Given the description of an element on the screen output the (x, y) to click on. 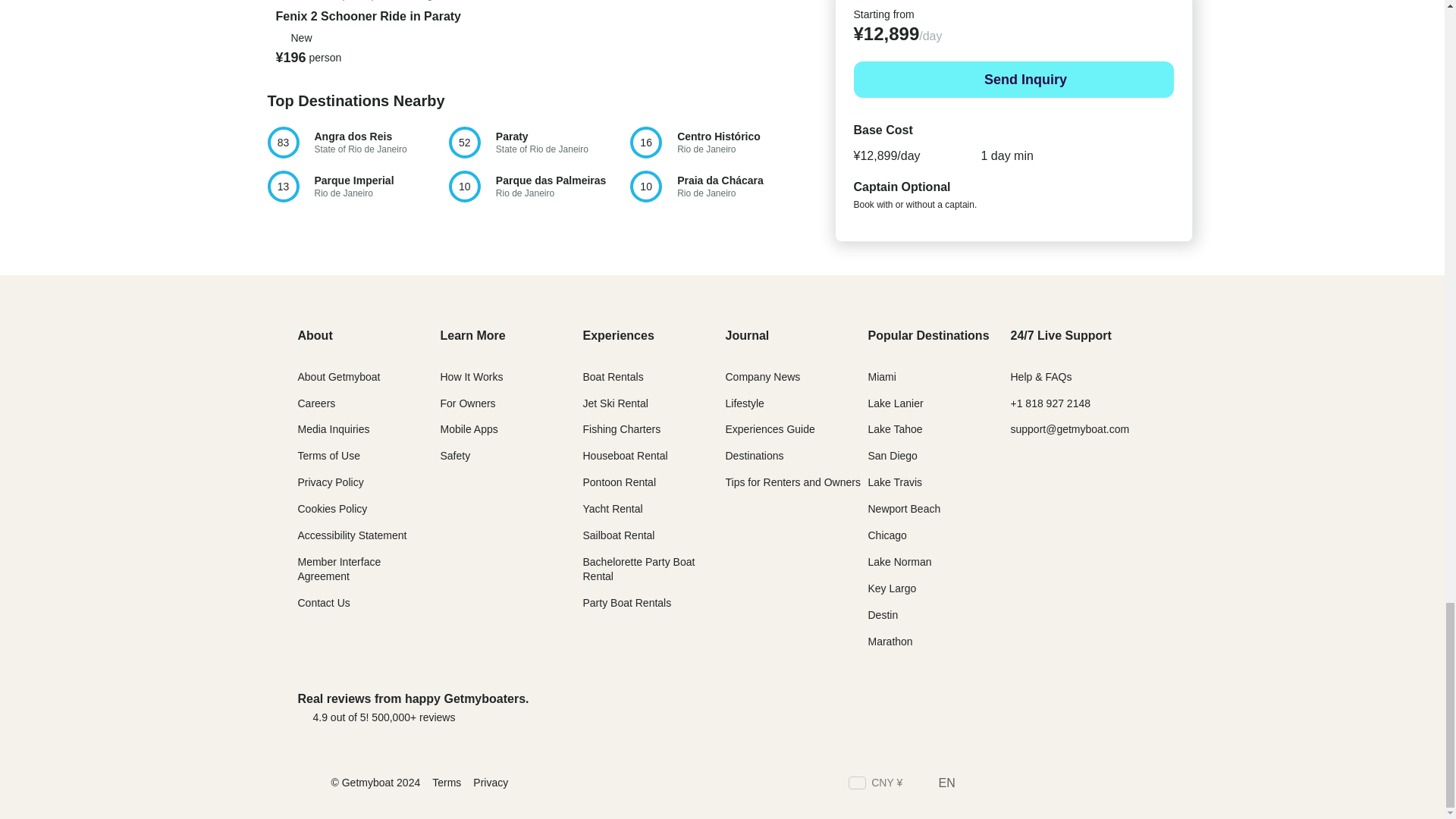
Get it on Google Play (1096, 707)
LinkedIn (1056, 784)
Download on the App Store (356, 142)
Pinterest (977, 707)
YouTube (1111, 784)
Instagram (538, 142)
Facebook (1139, 784)
Twitter (1029, 784)
